Given the description of an element on the screen output the (x, y) to click on. 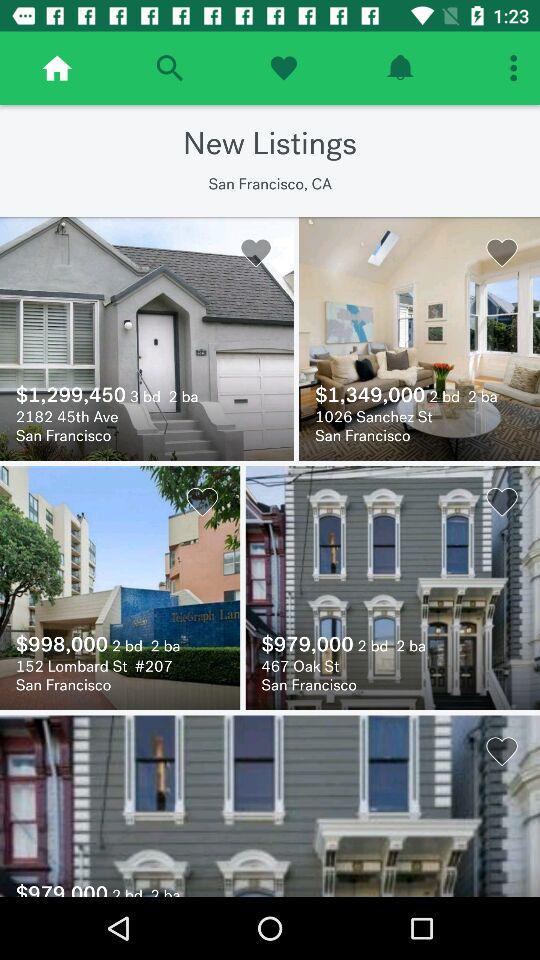
add to favorites (283, 68)
